Given the description of an element on the screen output the (x, y) to click on. 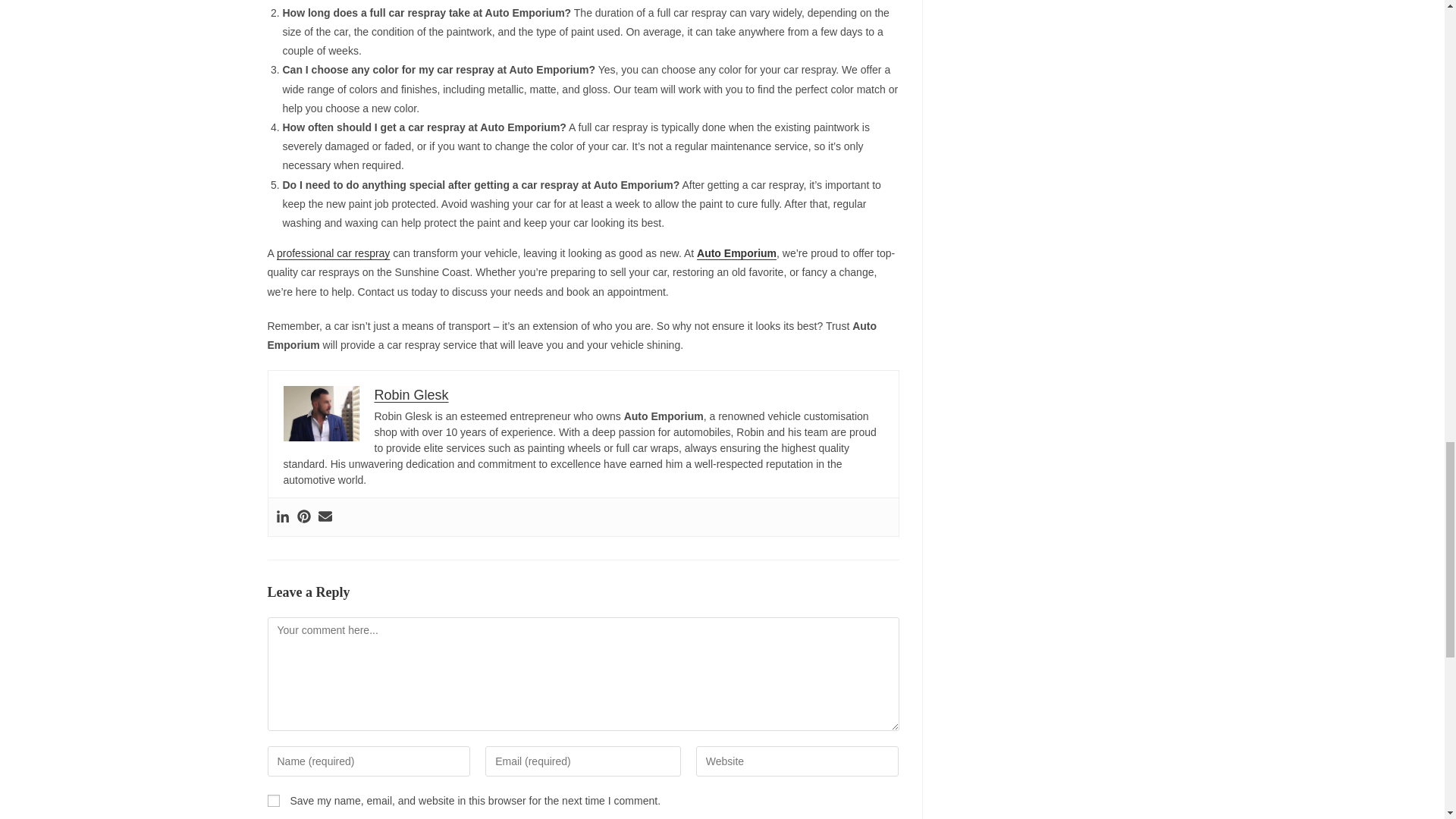
Linkedin (282, 516)
User email (324, 516)
Pinterest (304, 516)
yes (272, 800)
